Given the description of an element on the screen output the (x, y) to click on. 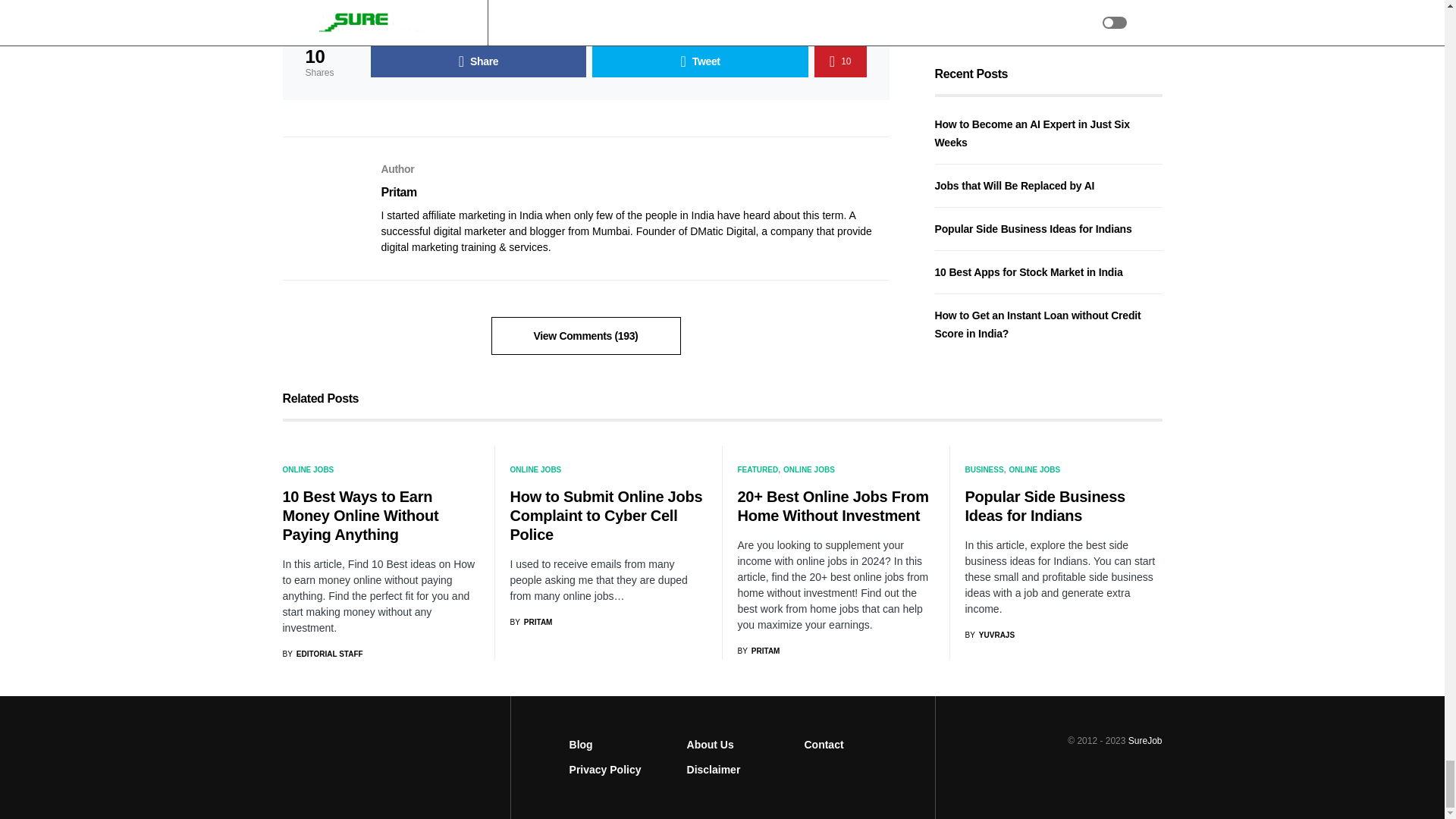
View all posts by Editorial Staff (322, 654)
View all posts by Pritam (757, 650)
View all posts by yuvrajs (988, 634)
View all posts by Pritam (530, 622)
